Given the description of an element on the screen output the (x, y) to click on. 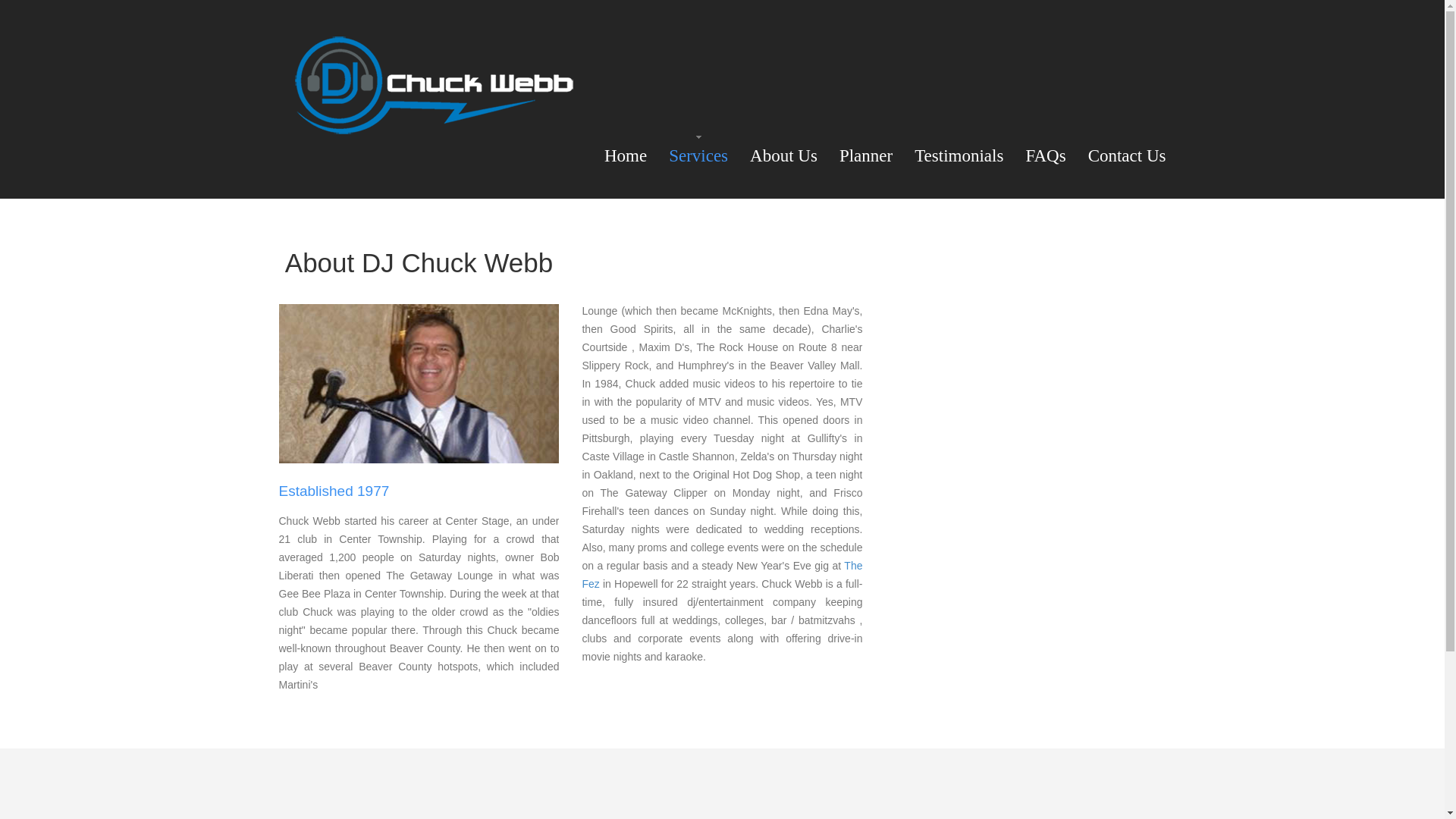
About Us (782, 156)
Planner (866, 156)
Testimonials (958, 156)
The Fez (720, 574)
Services (698, 156)
Home (625, 156)
FAQs (1045, 156)
Contact Us (1126, 156)
